Given the description of an element on the screen output the (x, y) to click on. 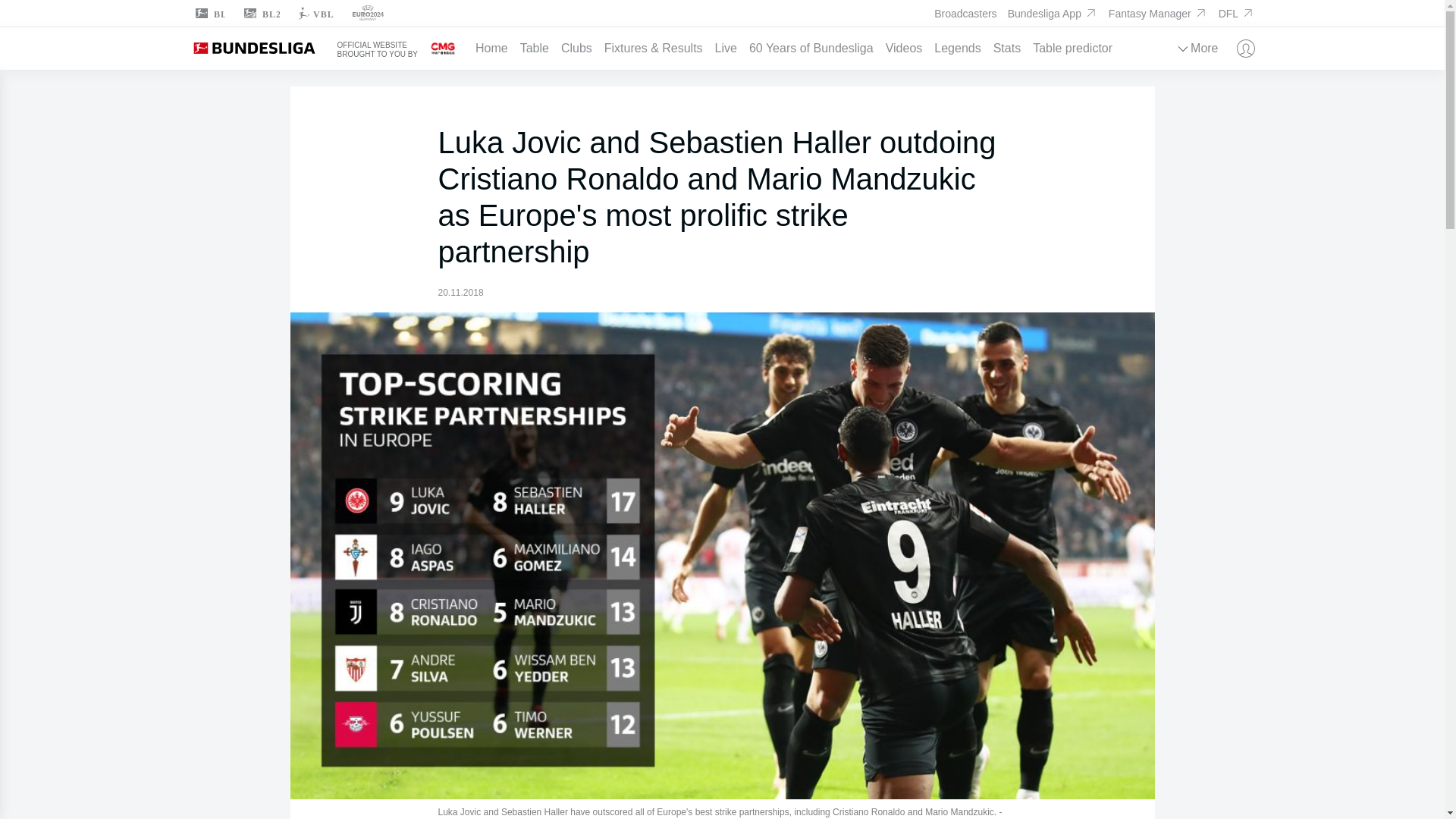
BL (208, 13)
Table predictor (1078, 48)
Clubs (582, 48)
More (1203, 48)
Home (497, 48)
VBL (315, 13)
Bundesliga App (1052, 13)
Fantasy Manager (1158, 13)
BL (208, 13)
Legends (963, 48)
Broadcasters (964, 13)
60 Years of Bundesliga (817, 48)
Fantasy Manager (1158, 13)
DFL (1236, 13)
VBL (315, 13)
